Given the description of an element on the screen output the (x, y) to click on. 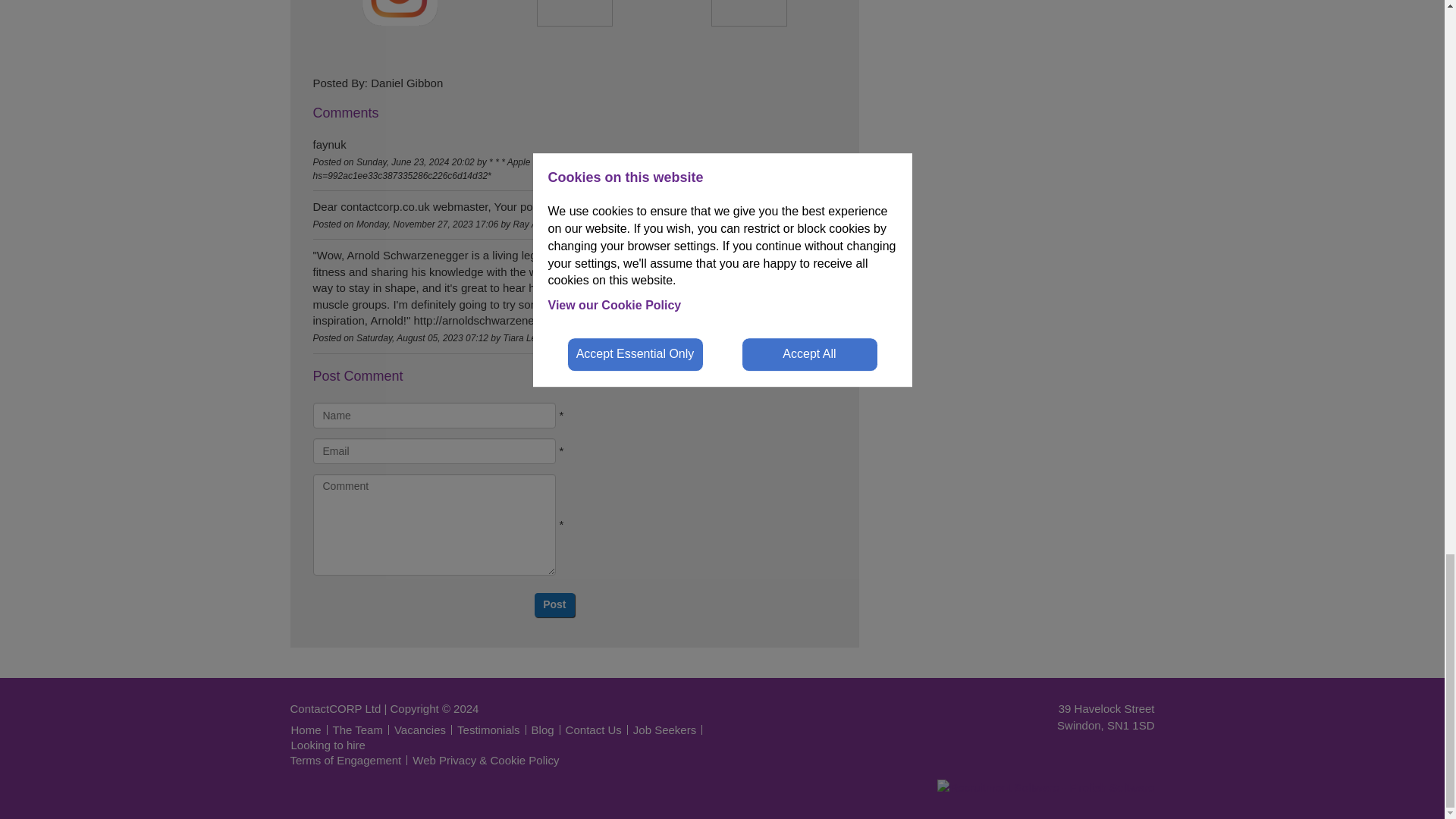
Post (553, 604)
Recruitment Software - Firefish Software (1045, 786)
